Given the description of an element on the screen output the (x, y) to click on. 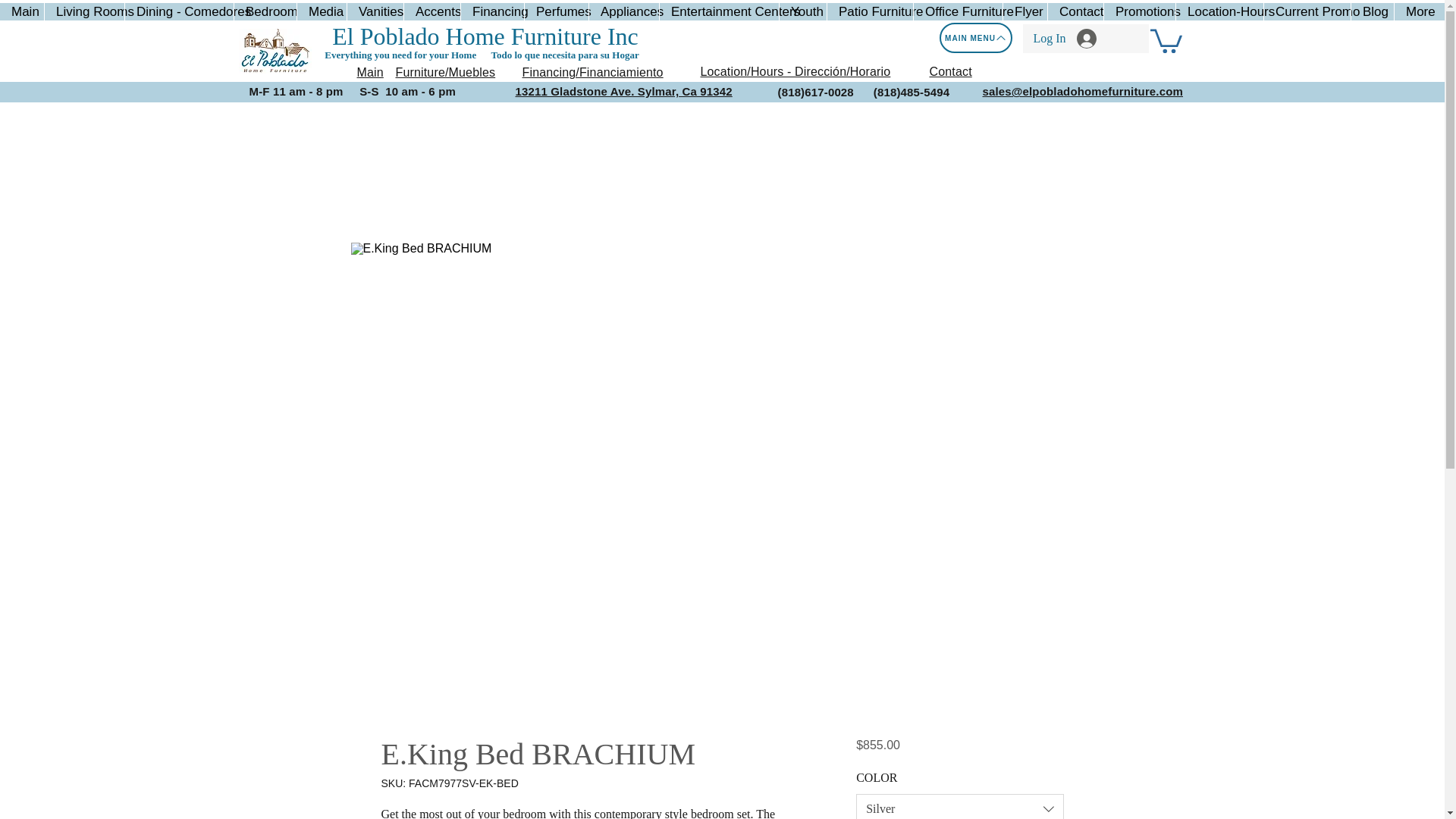
Living Rooms (83, 11)
Current Promo (1307, 11)
Promotions (1138, 11)
Location-Hours (1218, 11)
Flyer (1024, 11)
Youth (802, 11)
Office Furniture (957, 11)
Dining - Comedores (177, 11)
Vanities (374, 11)
Perfumes (556, 11)
Main (21, 11)
Patio Furniture (869, 11)
Entertainment Centers (718, 11)
Media (321, 11)
Financing (492, 11)
